Given the description of an element on the screen output the (x, y) to click on. 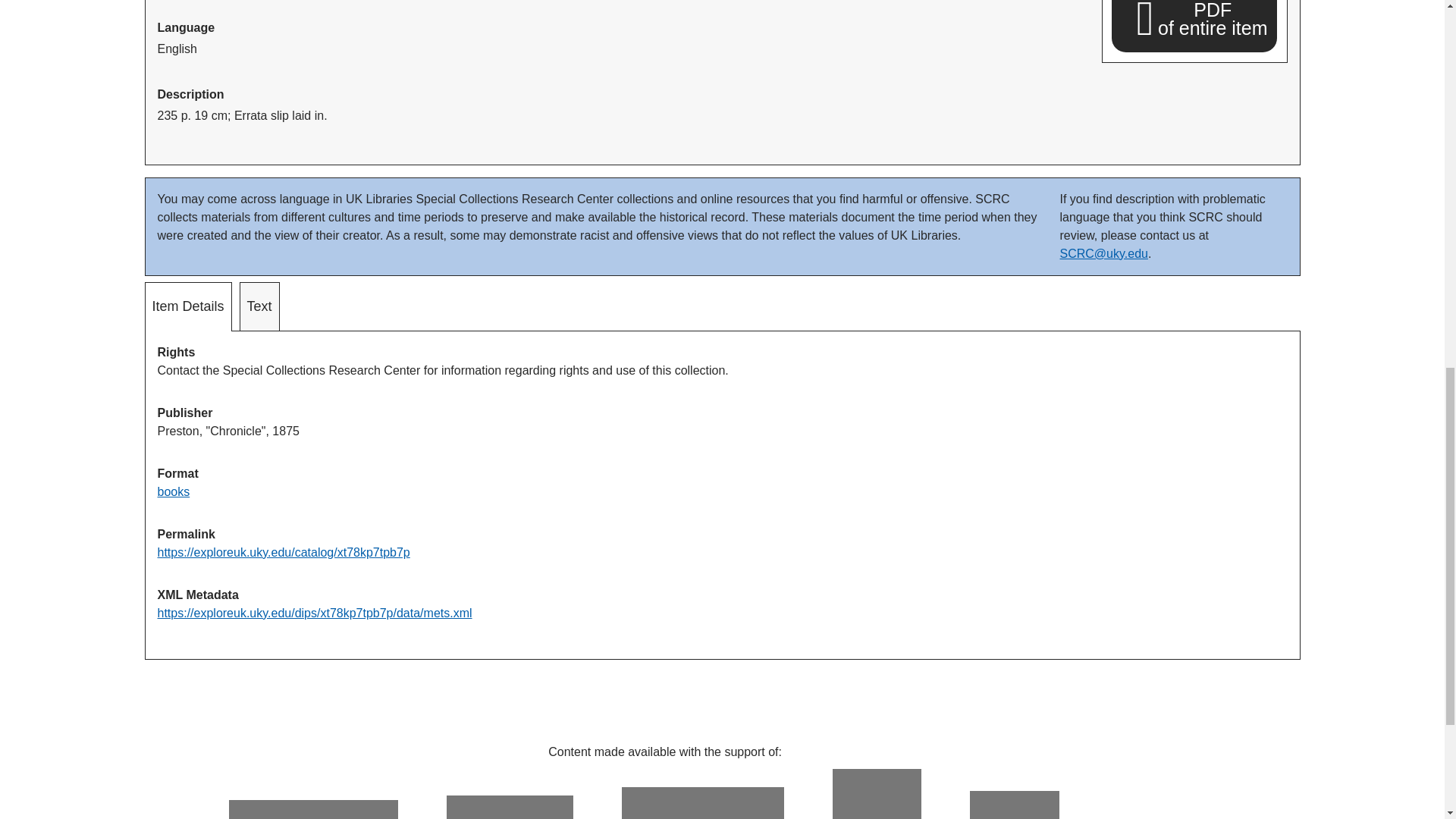
Item Details (1194, 21)
books (188, 306)
